Given the description of an element on the screen output the (x, y) to click on. 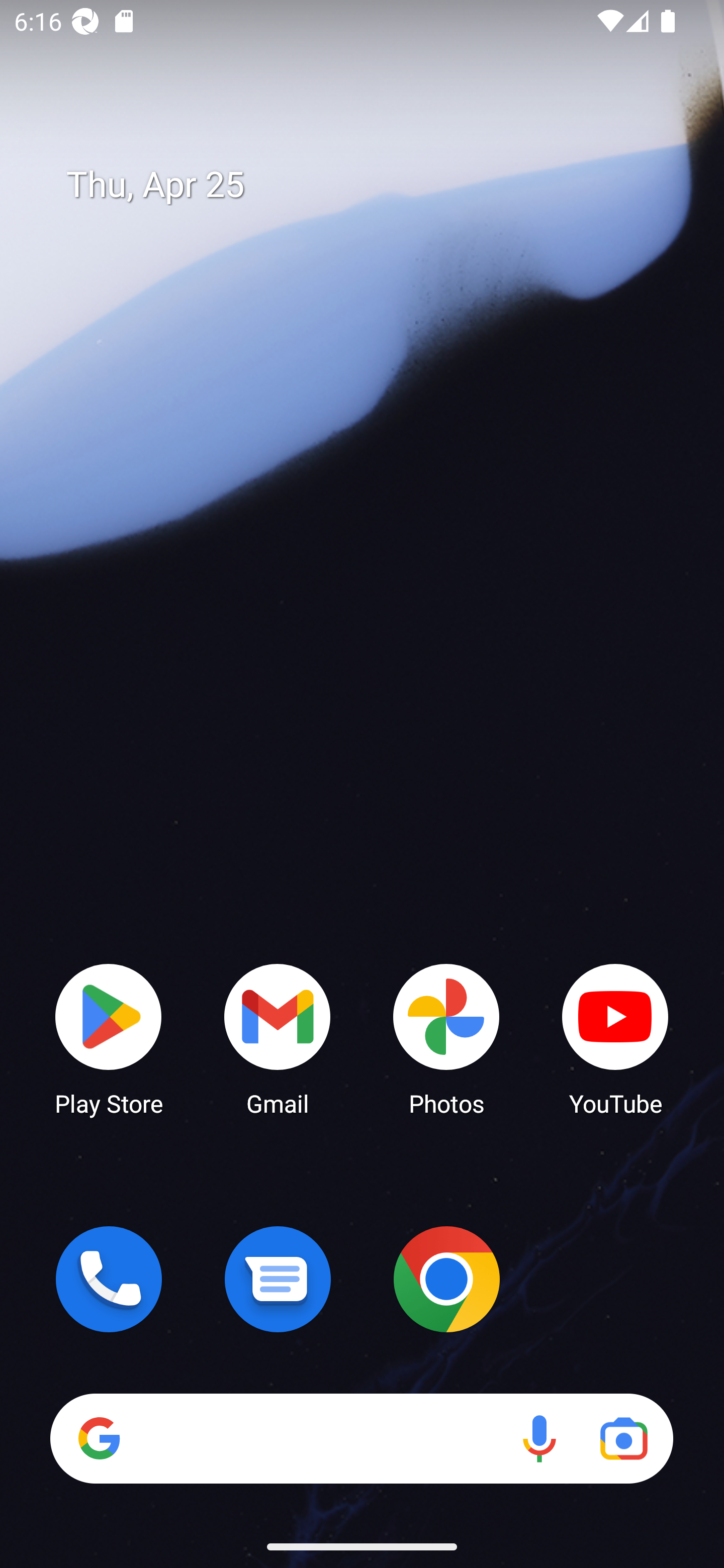
Thu, Apr 25 (375, 184)
Play Store (108, 1038)
Gmail (277, 1038)
Photos (445, 1038)
YouTube (615, 1038)
Phone (108, 1279)
Messages (277, 1279)
Chrome (446, 1279)
Search Voice search Google Lens (361, 1438)
Voice search (539, 1438)
Google Lens (623, 1438)
